Given the description of an element on the screen output the (x, y) to click on. 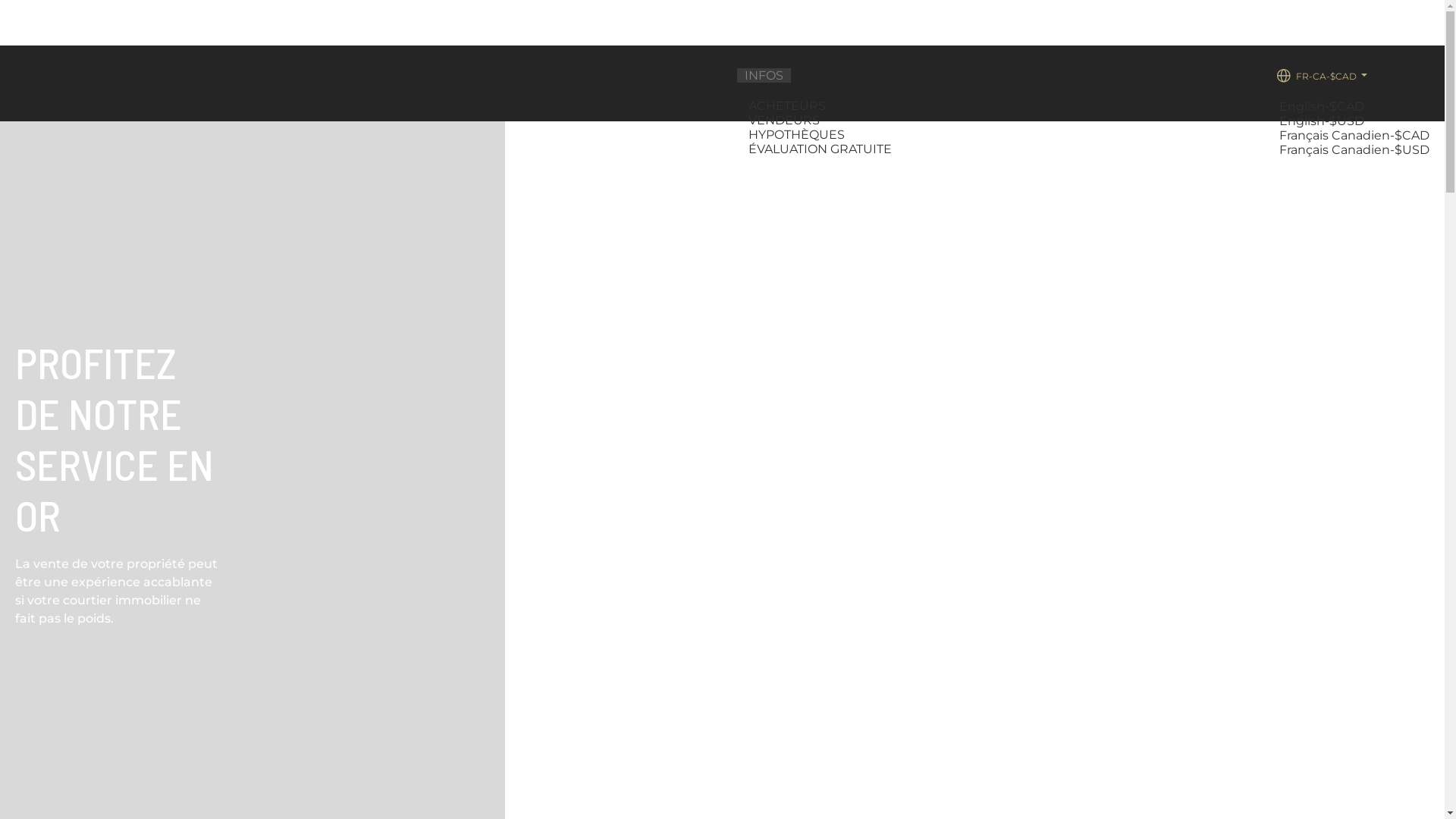
VENDEURS Element type: text (785, 119)
BLOG Element type: text (931, 148)
English-$USD Element type: text (1323, 120)
TROUVER UNE MAISON Element type: text (656, 148)
ACCUEIL Element type: text (540, 148)
ACHETEURS Element type: text (788, 105)
NOUVELLES DU QUARTIER Element type: text (1176, 148)
INFOS Element type: text (763, 75)
FR-CA-$CAD Element type: text (1320, 75)
English-$CAD Element type: text (1323, 106)
